Given the description of an element on the screen output the (x, y) to click on. 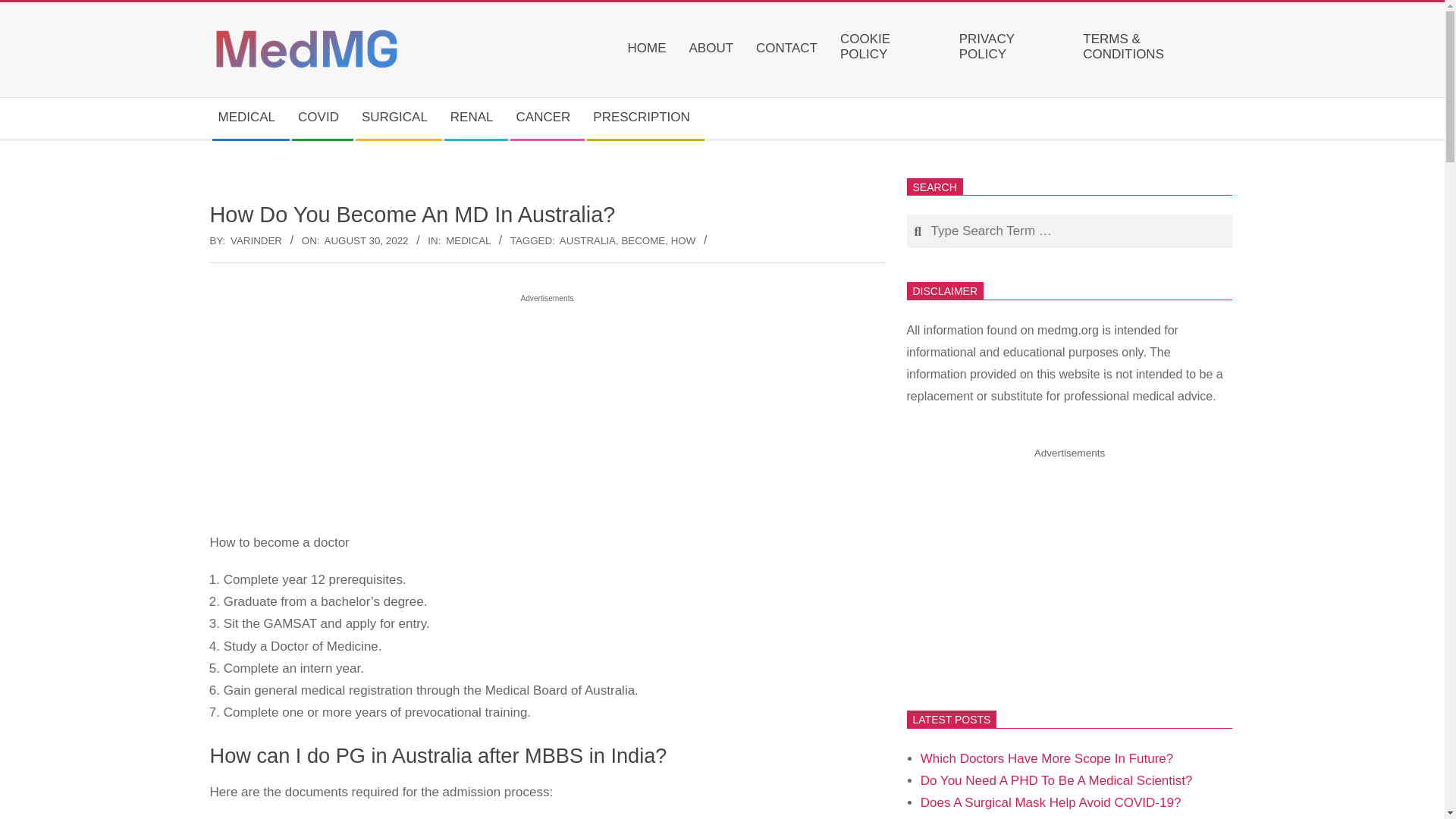
Posts by varinder (256, 240)
PRESCRIPTION (644, 117)
BECOME (643, 240)
Does A Surgical Mask Help Avoid COVID-19? (1050, 802)
COVID (321, 117)
VARINDER (256, 240)
HOME (650, 48)
CONTACT (790, 48)
MEDICAL (467, 240)
PRIVACY POLICY (1013, 49)
MEDICAL (251, 117)
ABOUT (714, 48)
RENAL (475, 117)
